Given the description of an element on the screen output the (x, y) to click on. 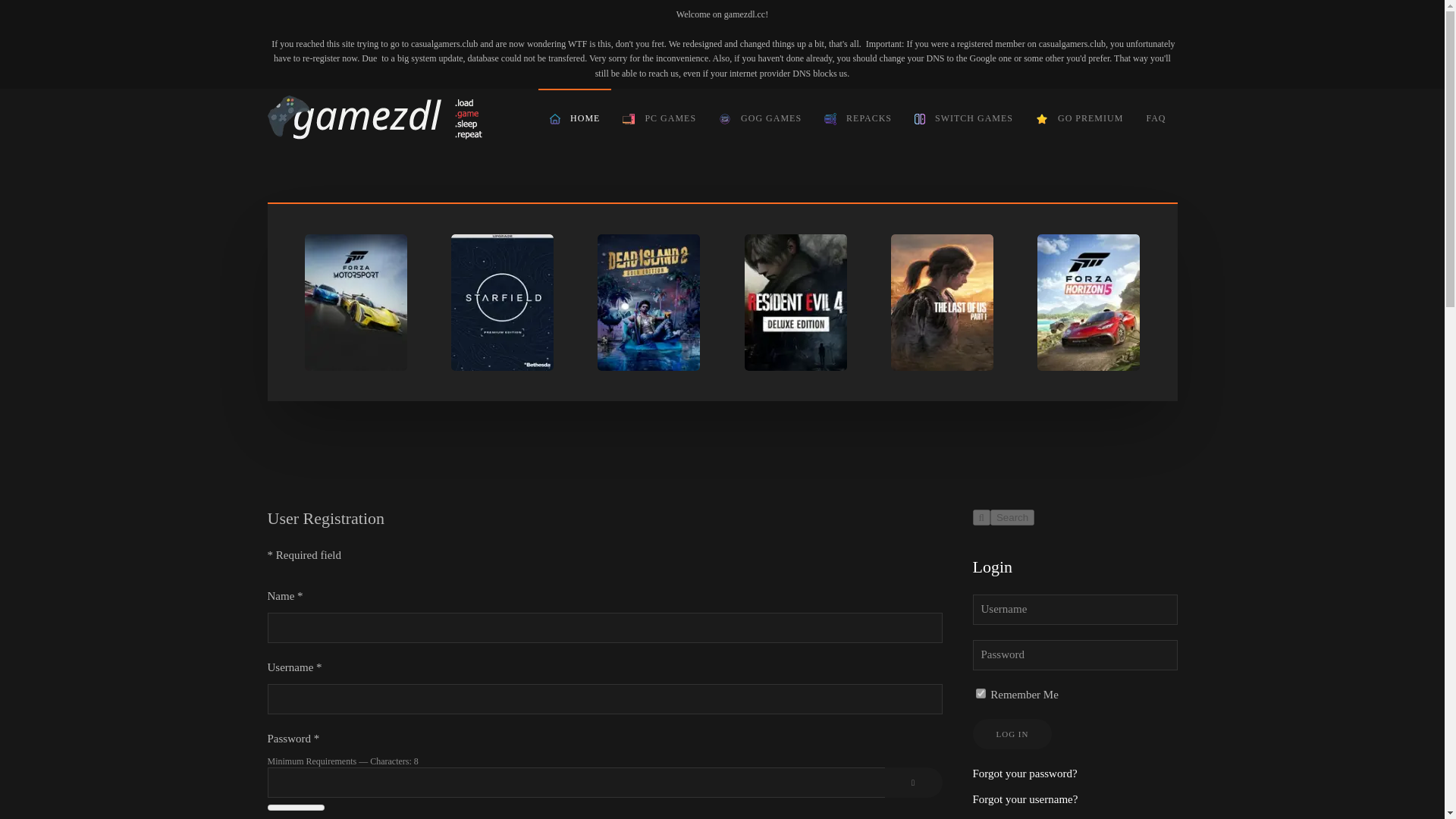
SHOW PASSWORD (913, 782)
HOME (574, 118)
LOG IN (1011, 734)
Forgot your username? (1024, 799)
GOG GAMES (759, 118)
PC GAMES (659, 118)
SWITCH GAMES (963, 118)
Forgot your password? (1024, 773)
GO PREMIUM (1079, 118)
yes (980, 693)
